Given the description of an element on the screen output the (x, y) to click on. 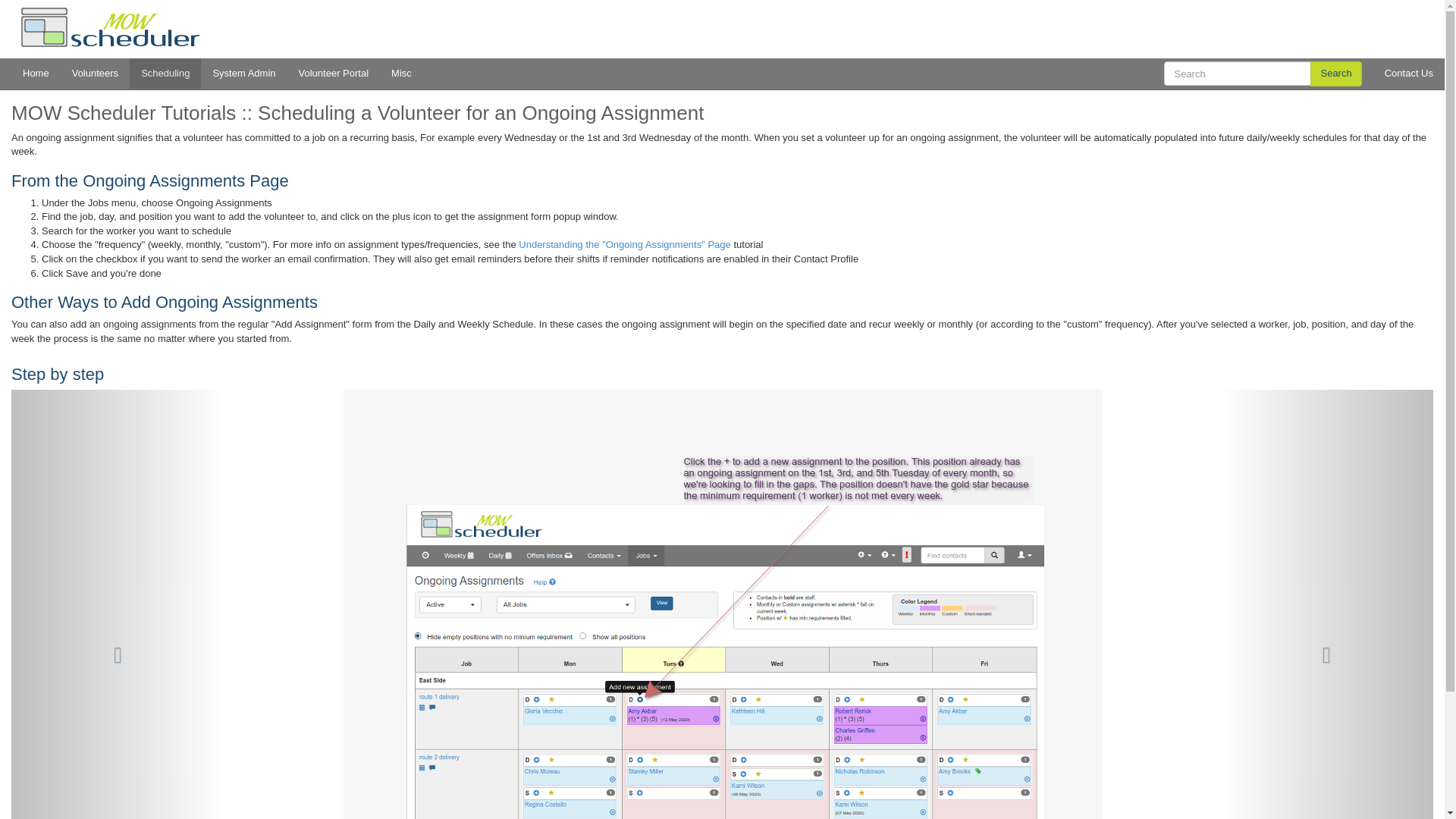
Home (36, 73)
Previous (117, 604)
Next (1326, 604)
System Admin (243, 73)
Scheduling (164, 73)
Volunteers (95, 73)
Search (1335, 73)
Misc (401, 73)
Understanding the "Ongoing Assignments" Page (624, 244)
Volunteer Portal (333, 73)
